Given the description of an element on the screen output the (x, y) to click on. 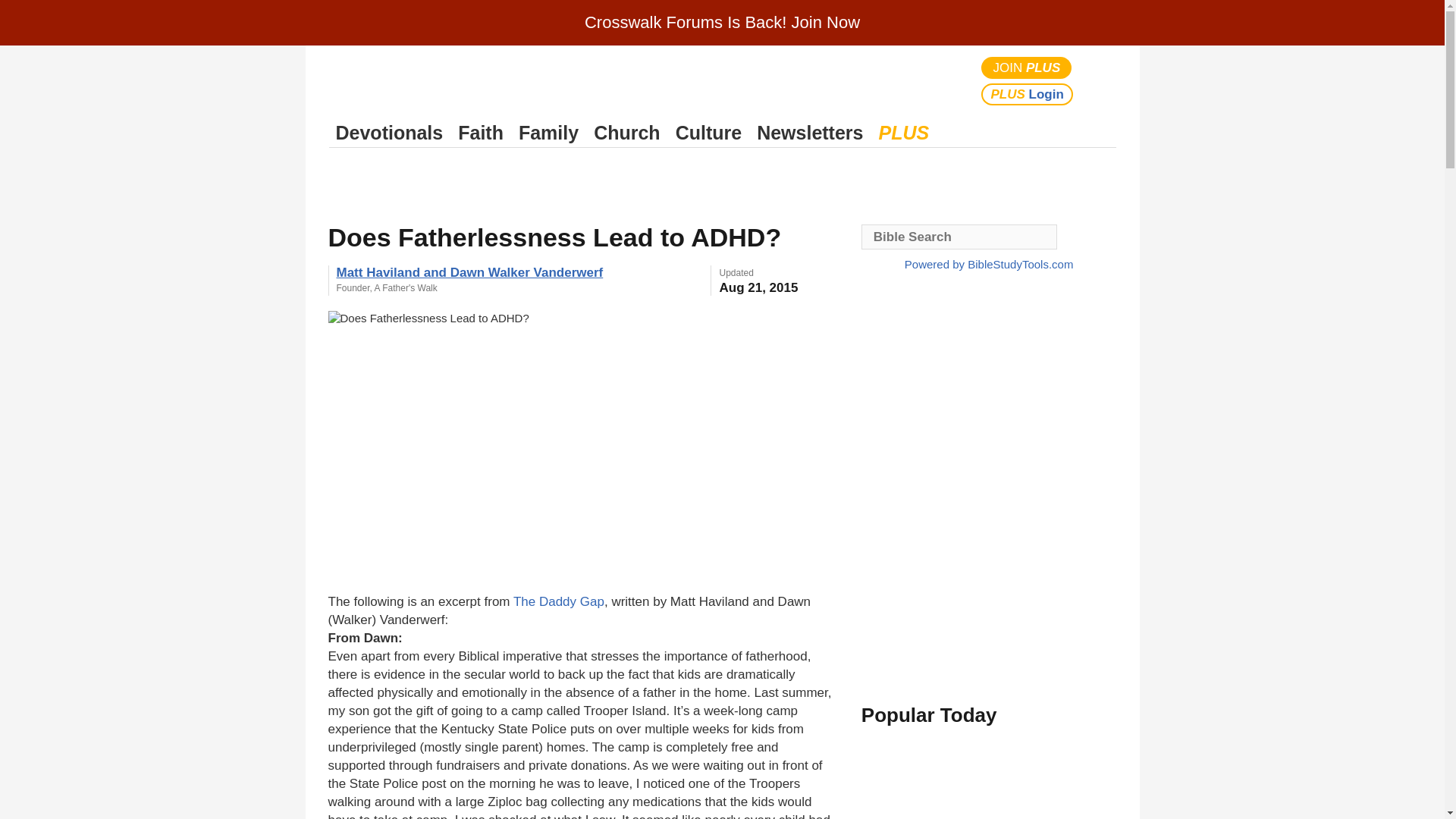
Join Plus (1026, 67)
Search (1101, 80)
Plus Login (1026, 94)
PLUS Login (1026, 94)
Devotionals (389, 132)
JOIN PLUS (1026, 67)
